Given the description of an element on the screen output the (x, y) to click on. 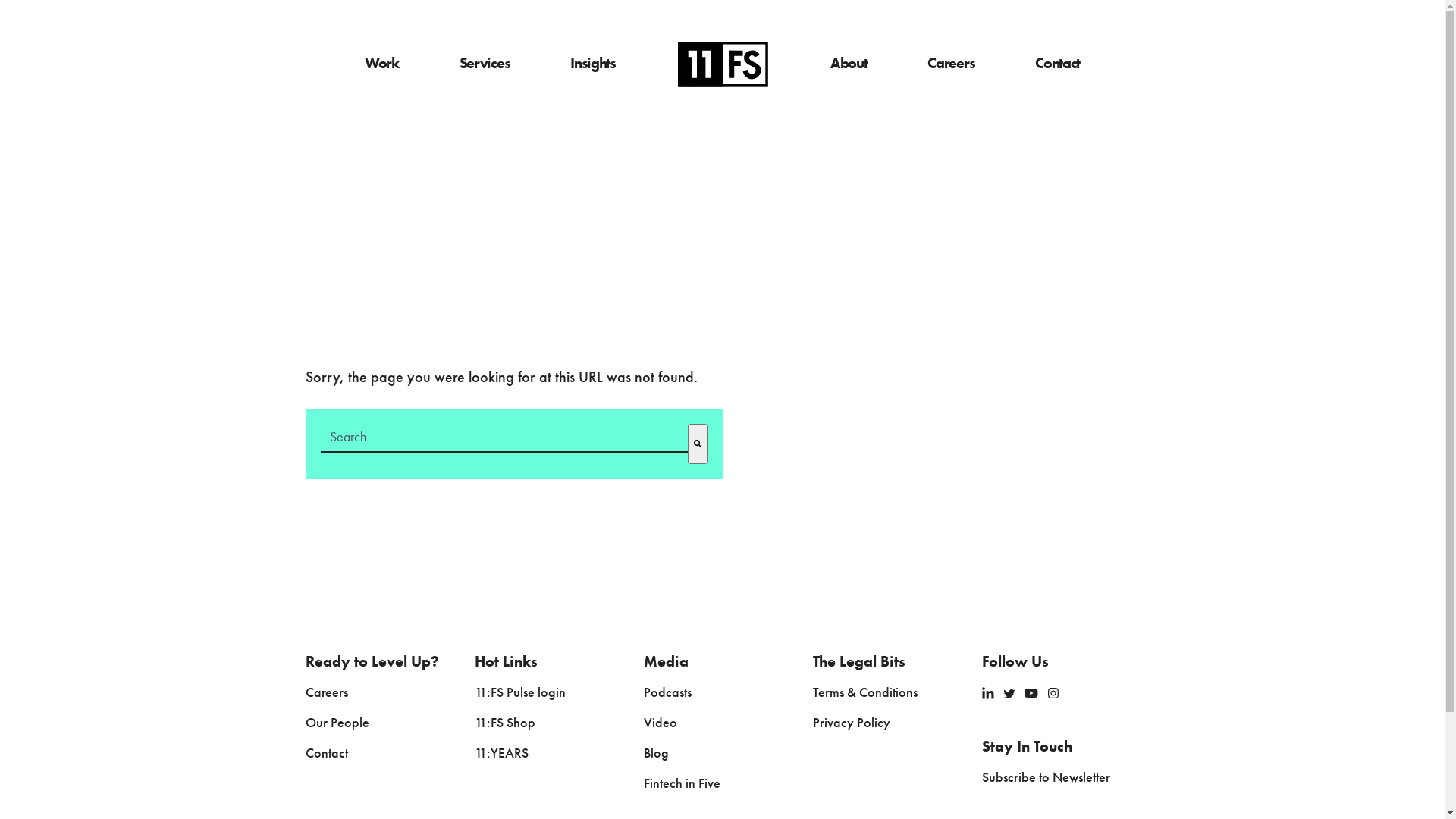
Video Element type: text (660, 723)
Instagram Element type: text (1053, 692)
Contact Element type: text (1057, 64)
Blog Element type: text (655, 753)
Insights Element type: text (592, 64)
11:FS Pulse login Element type: text (519, 692)
Fintech in Five Element type: text (681, 783)
Twitter Element type: text (1009, 692)
11:FS Shop Element type: text (504, 723)
Work Element type: text (381, 64)
Contact Element type: text (325, 753)
Privacy Policy Element type: text (851, 723)
LinkedIn Element type: text (988, 692)
About Element type: text (848, 64)
11:YEARS Element type: text (501, 753)
Our People Element type: text (336, 723)
YouTube Element type: text (1031, 692)
Careers Element type: text (950, 64)
Terms & Conditions Element type: text (864, 692)
Services Element type: text (484, 64)
Podcasts Element type: text (667, 692)
Subscribe to Newsletter Element type: text (1046, 777)
Careers Element type: text (325, 692)
